Given the description of an element on the screen output the (x, y) to click on. 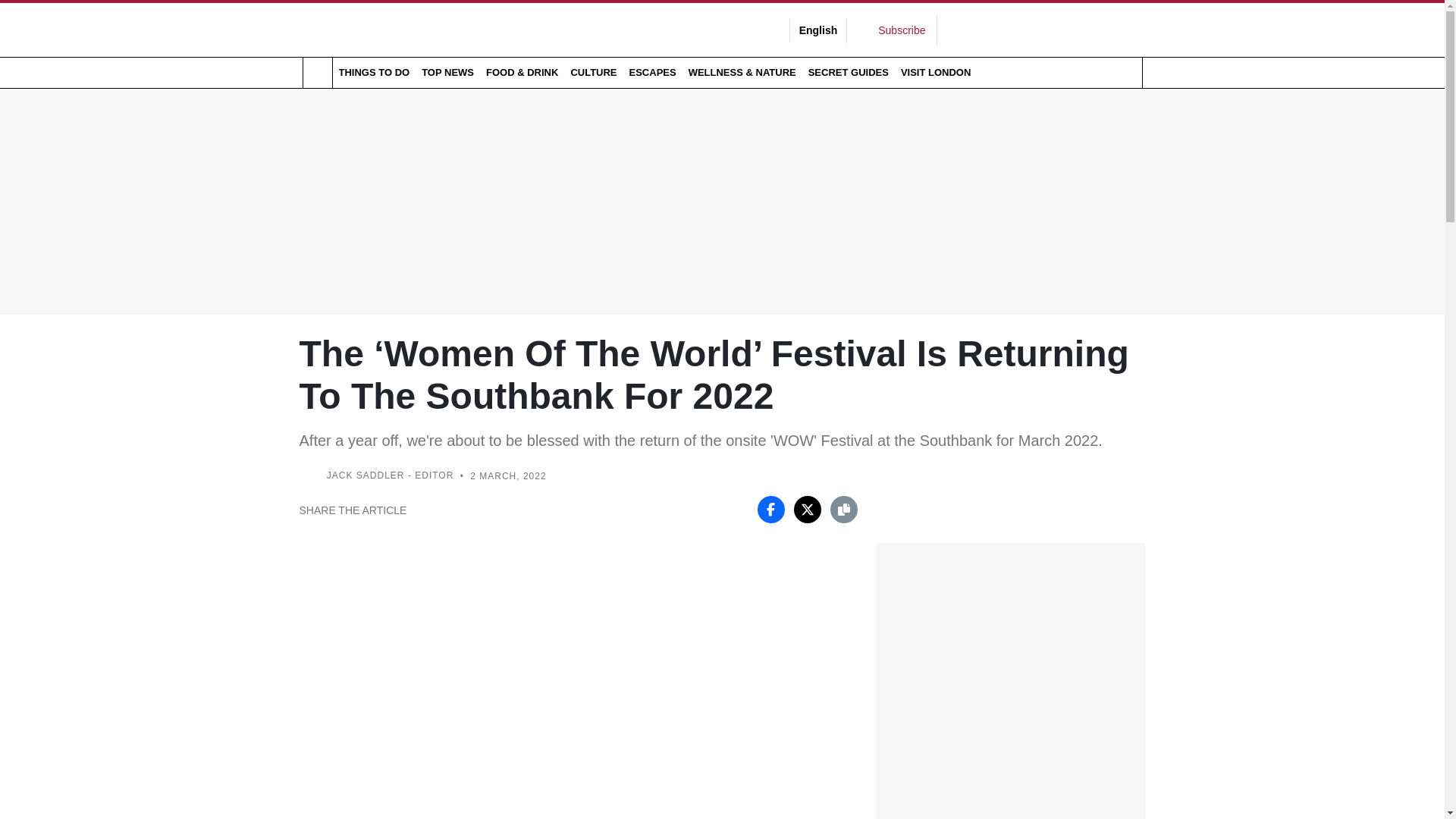
English (818, 29)
VISIT LONDON (936, 72)
TOP NEWS (448, 72)
JACK SADDLER (365, 475)
CULTURE (592, 72)
SECRET GUIDES (848, 72)
ESCAPES (652, 72)
THINGS TO DO (373, 72)
